Given the description of an element on the screen output the (x, y) to click on. 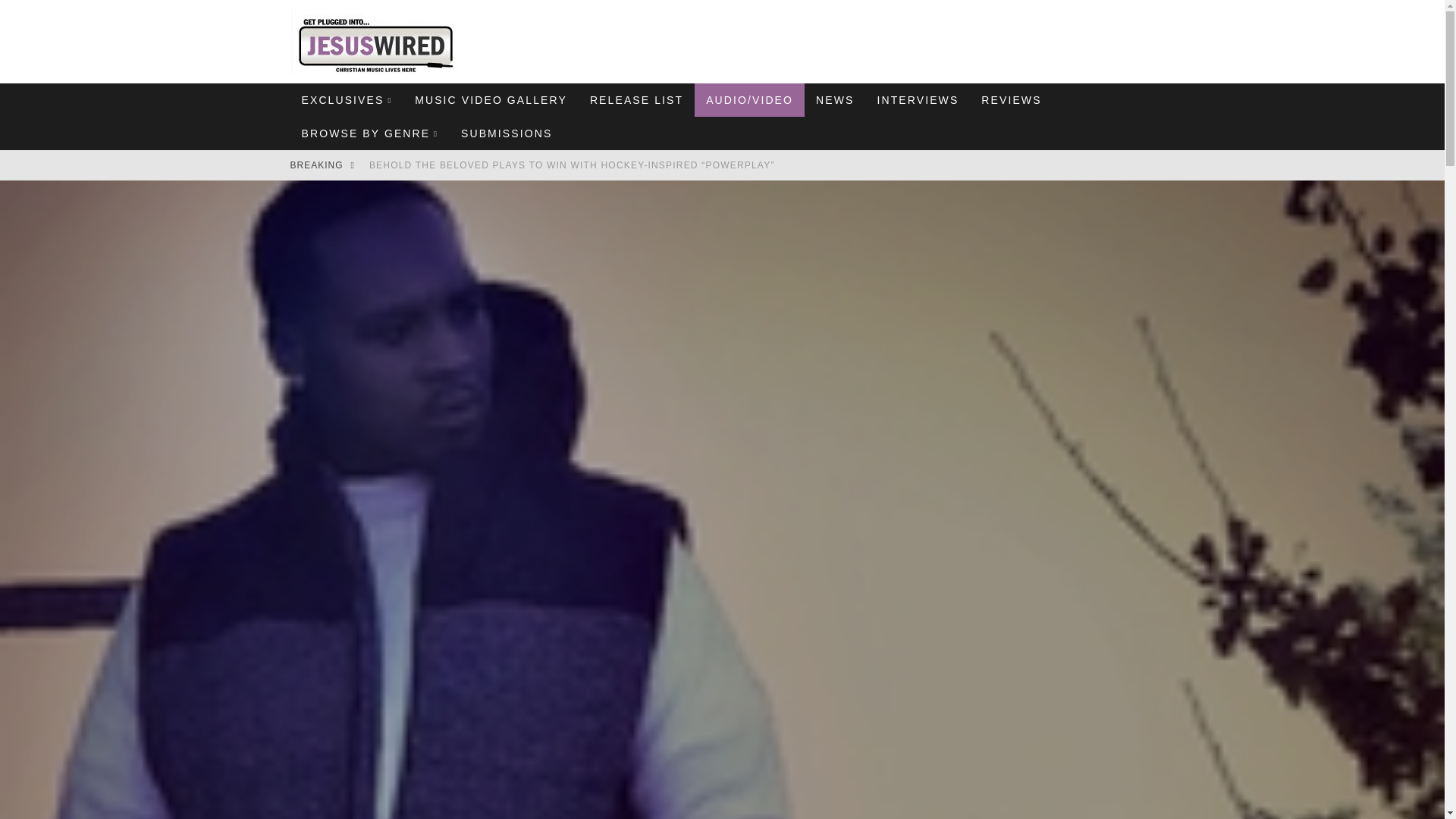
RELEASE LIST (636, 100)
EXCLUSIVES (346, 100)
MUSIC VIDEO GALLERY (490, 100)
